Given the description of an element on the screen output the (x, y) to click on. 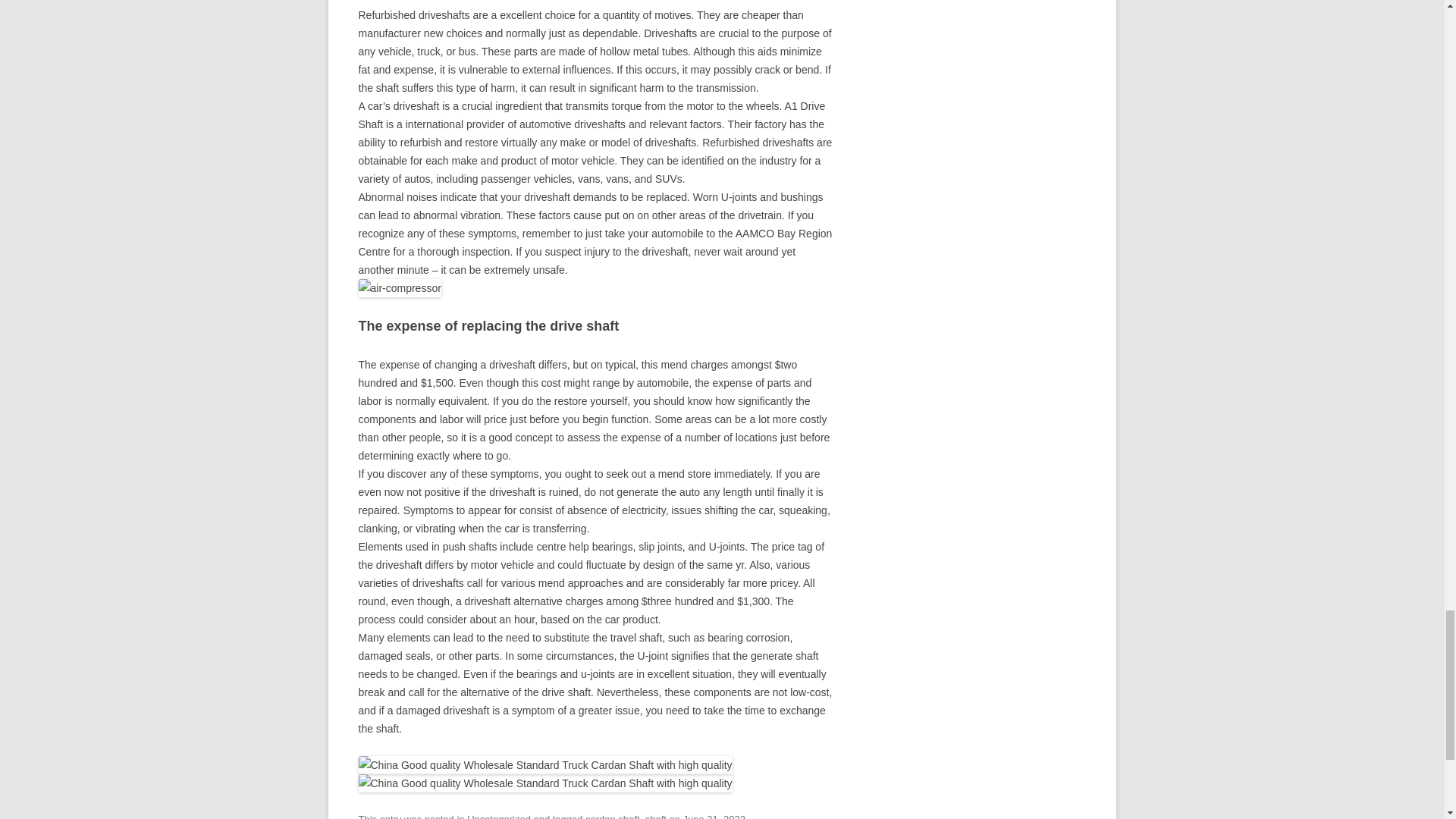
cardan shaft (612, 816)
Uncategorized (499, 816)
June 21, 2022 (713, 816)
6:58 pm (713, 816)
shaft (655, 816)
